Given the description of an element on the screen output the (x, y) to click on. 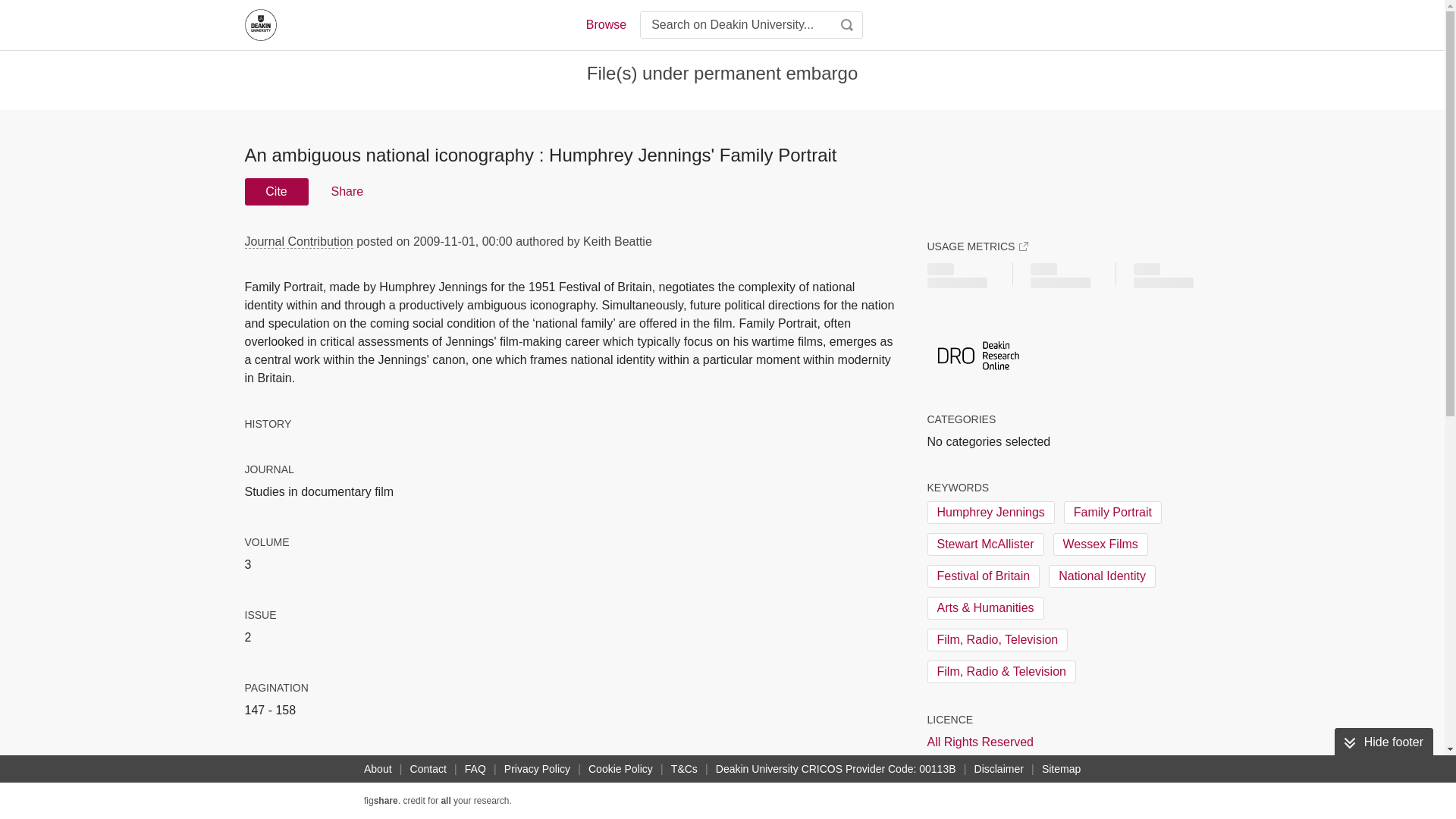
Film, Radio, Television (996, 639)
About (377, 769)
All Rights Reserved (979, 742)
Stewart McAllister (984, 544)
Humphrey Jennings (990, 512)
Wessex Films (1100, 544)
Share (346, 191)
Deakin University CRICOS Provider Code: 00113B (835, 769)
Festival of Britain (982, 576)
Privacy Policy (537, 769)
Cookie Policy (620, 769)
Hide footer (1383, 742)
Sitemap (1060, 769)
Disclaimer (998, 769)
Browse (605, 24)
